Given the description of an element on the screen output the (x, y) to click on. 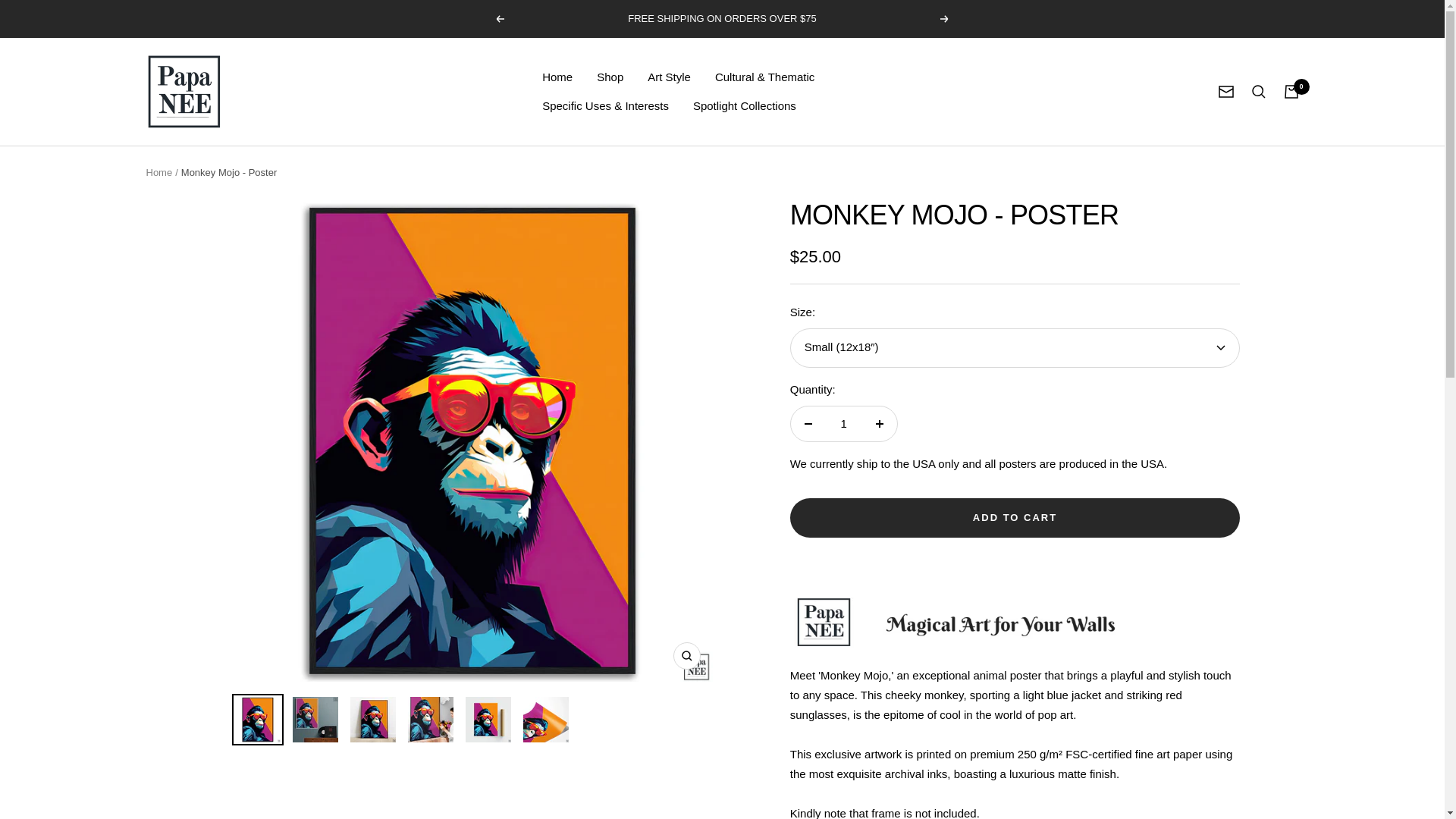
Art Style (668, 76)
Spotlight Collections (744, 106)
Shop (609, 76)
Newsletter (1225, 91)
Next (944, 18)
0 (1291, 91)
Home (158, 172)
Decrease quantity (807, 423)
Papanee (183, 91)
Increase quantity (878, 423)
Zoom (686, 655)
Previous (499, 18)
ADD TO CART (1015, 517)
Home (556, 76)
1 (843, 423)
